Given the description of an element on the screen output the (x, y) to click on. 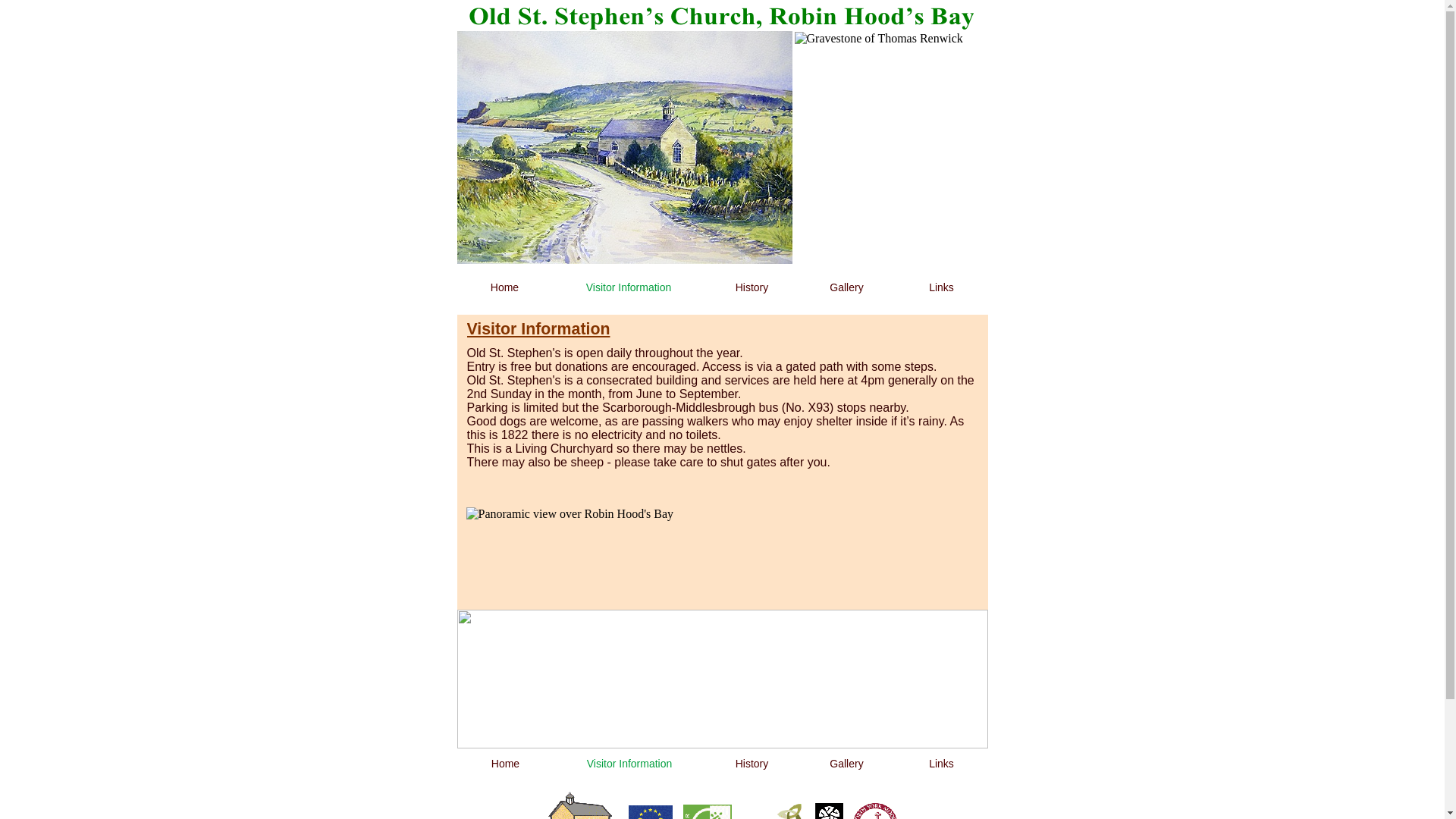
Panoramic view over Robin Hood's Bay (721, 625)
Home (505, 764)
Gallery (846, 764)
Gallery (846, 287)
Links (940, 287)
Home (504, 287)
History (750, 764)
Links (940, 764)
Visitor Information (627, 287)
History (750, 287)
